Given the description of an element on the screen output the (x, y) to click on. 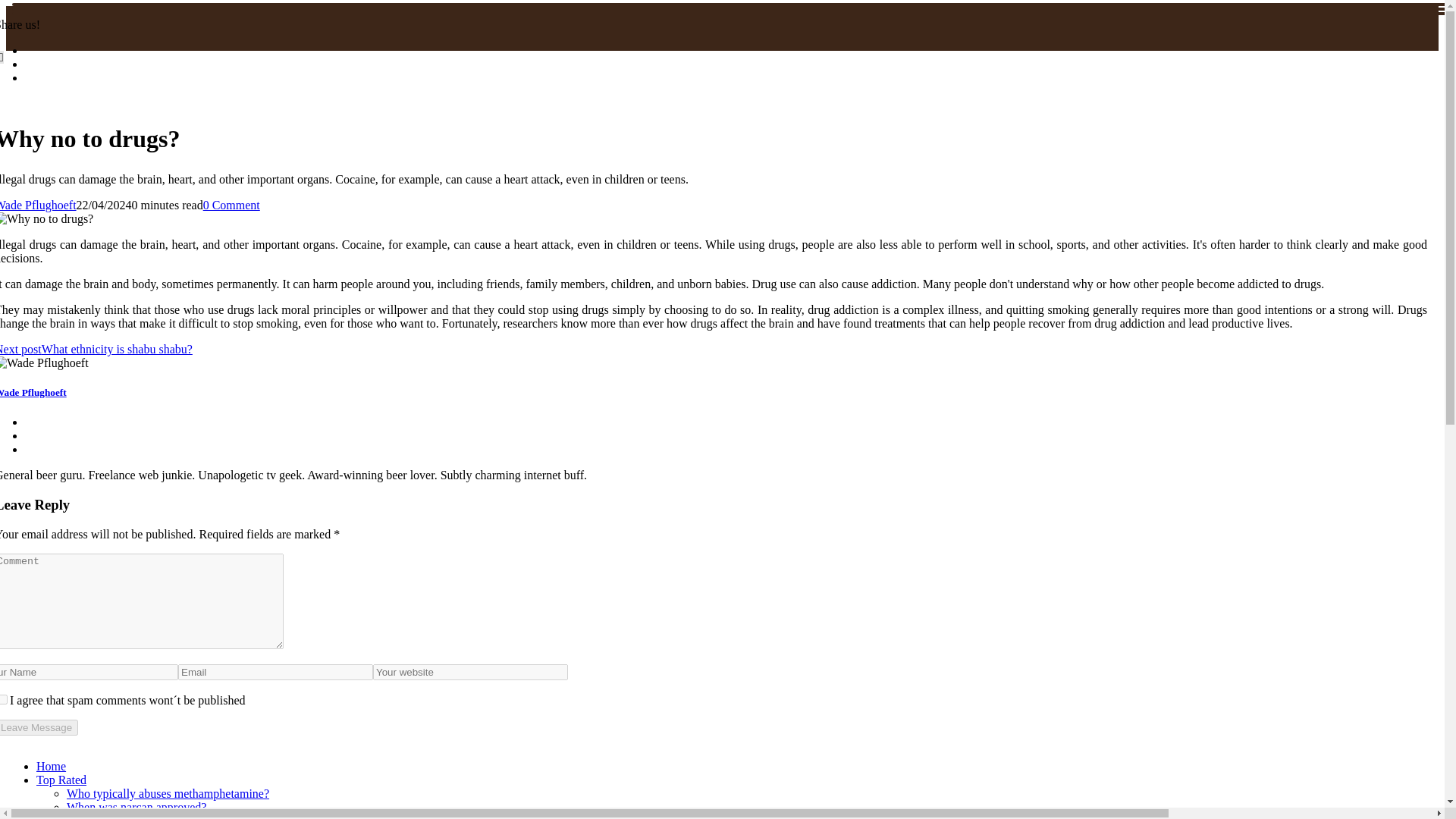
yes (3, 699)
Leave Message (39, 727)
Leave Message (39, 727)
Home (50, 766)
What are stimulants used for? (138, 816)
Wade Pflughoeft (33, 392)
0 Comment (231, 205)
Wade Pflughoeft (38, 205)
Top Rated (60, 779)
Posts by Wade Pflughoeft (38, 205)
Next postWhat ethnicity is shabu shabu? (96, 349)
When was narcan approved? (136, 807)
Who typically abuses methamphetamine? (167, 793)
